Given the description of an element on the screen output the (x, y) to click on. 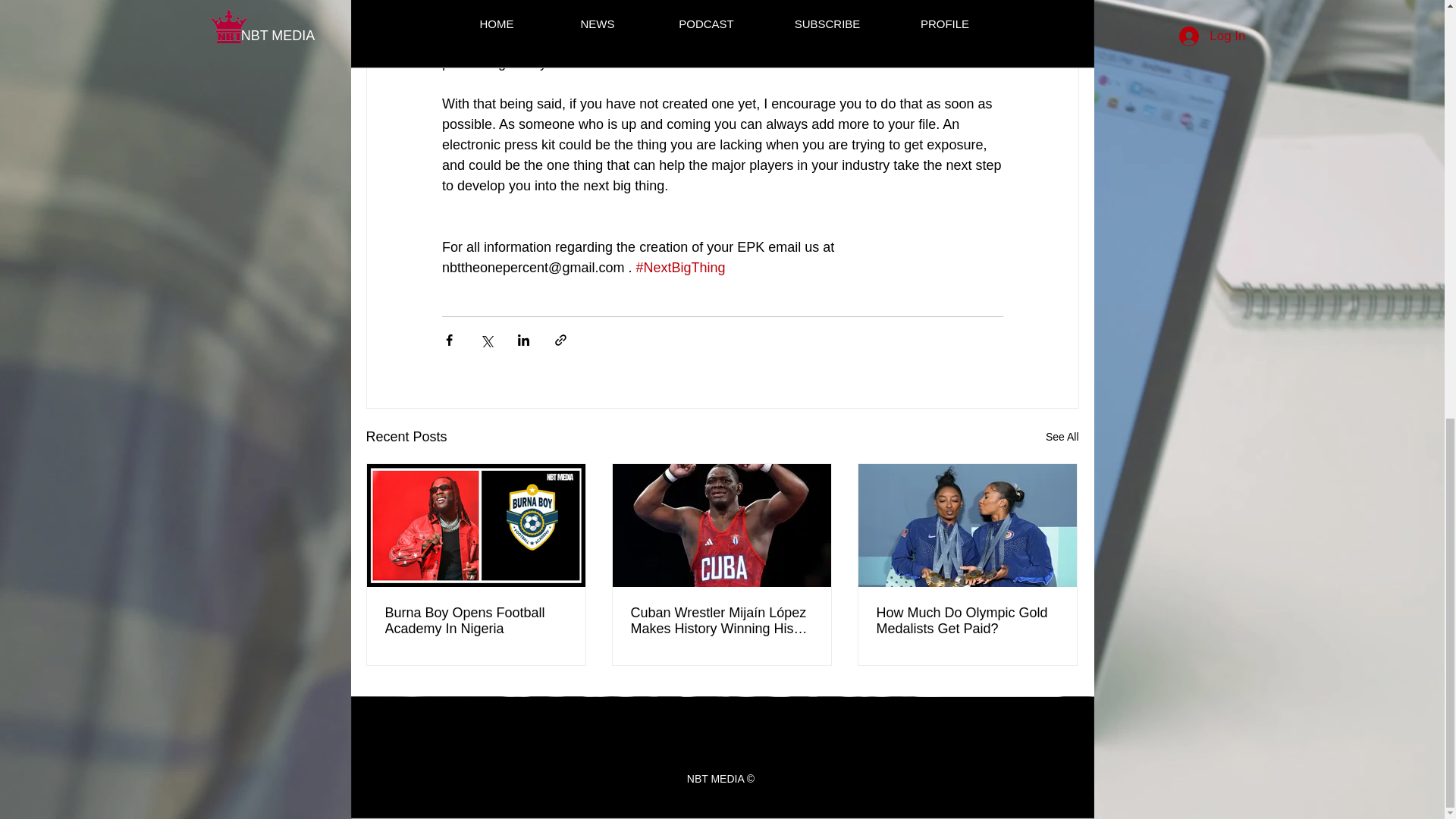
How Much Do Olympic Gold Medalists Get Paid? (967, 621)
Burna Boy Opens Football Academy In Nigeria (476, 621)
See All (1061, 436)
